Given the description of an element on the screen output the (x, y) to click on. 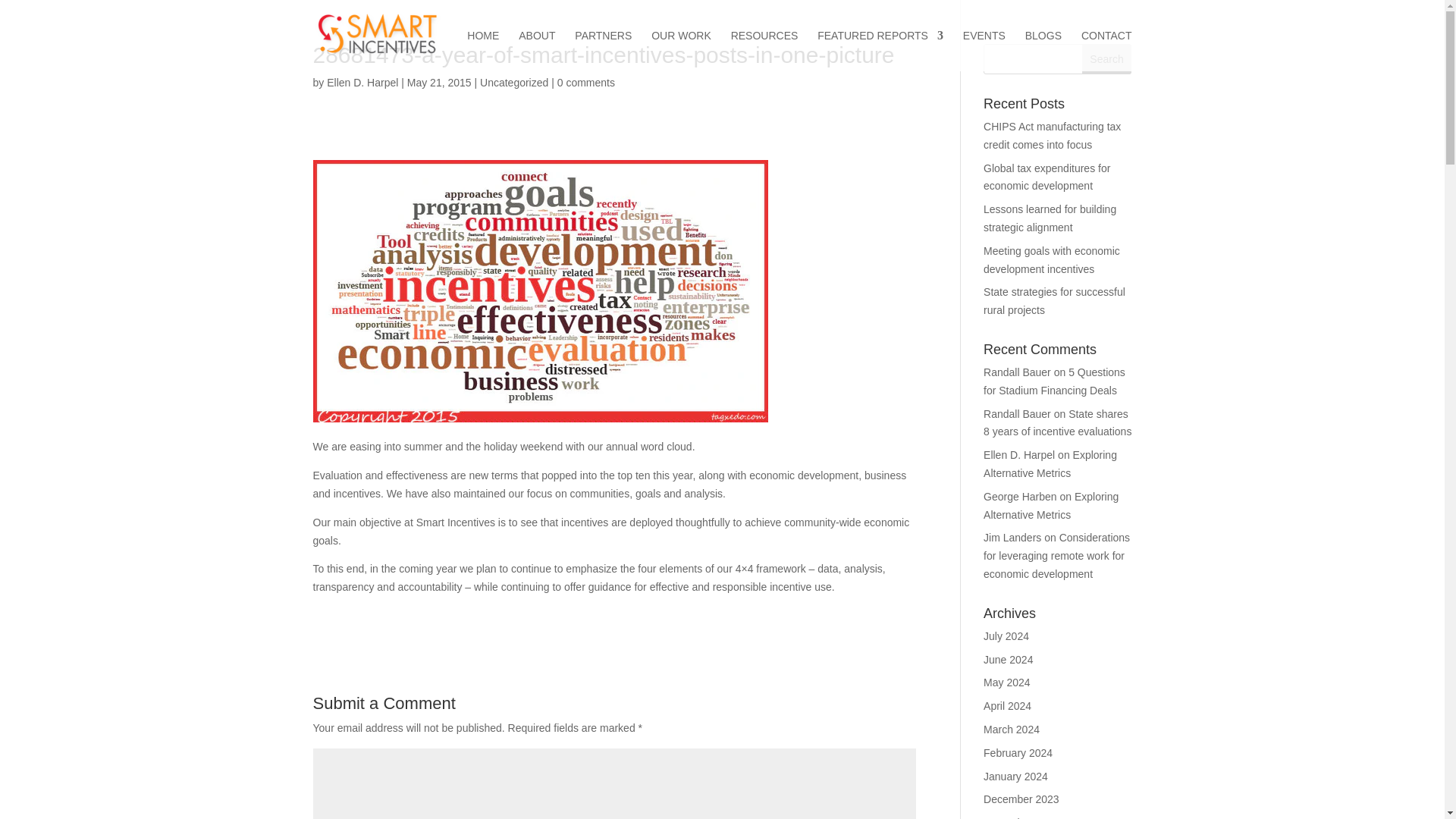
Meeting goals with economic development incentives (1051, 259)
State strategies for successful rural projects (1054, 300)
CONTACT (1106, 50)
EVENTS (984, 50)
Exploring Alternative Metrics (1051, 505)
Randall Bauer (1017, 372)
FEATURED REPORTS (879, 50)
CHIPS Act manufacturing tax credit comes into focus (1052, 135)
0 comments (585, 82)
Search (1106, 59)
PARTNERS (603, 50)
RESOURCES (763, 50)
State shares 8 years of incentive evaluations (1057, 422)
George Harben (1020, 496)
OUR WORK (680, 50)
